Given the description of an element on the screen output the (x, y) to click on. 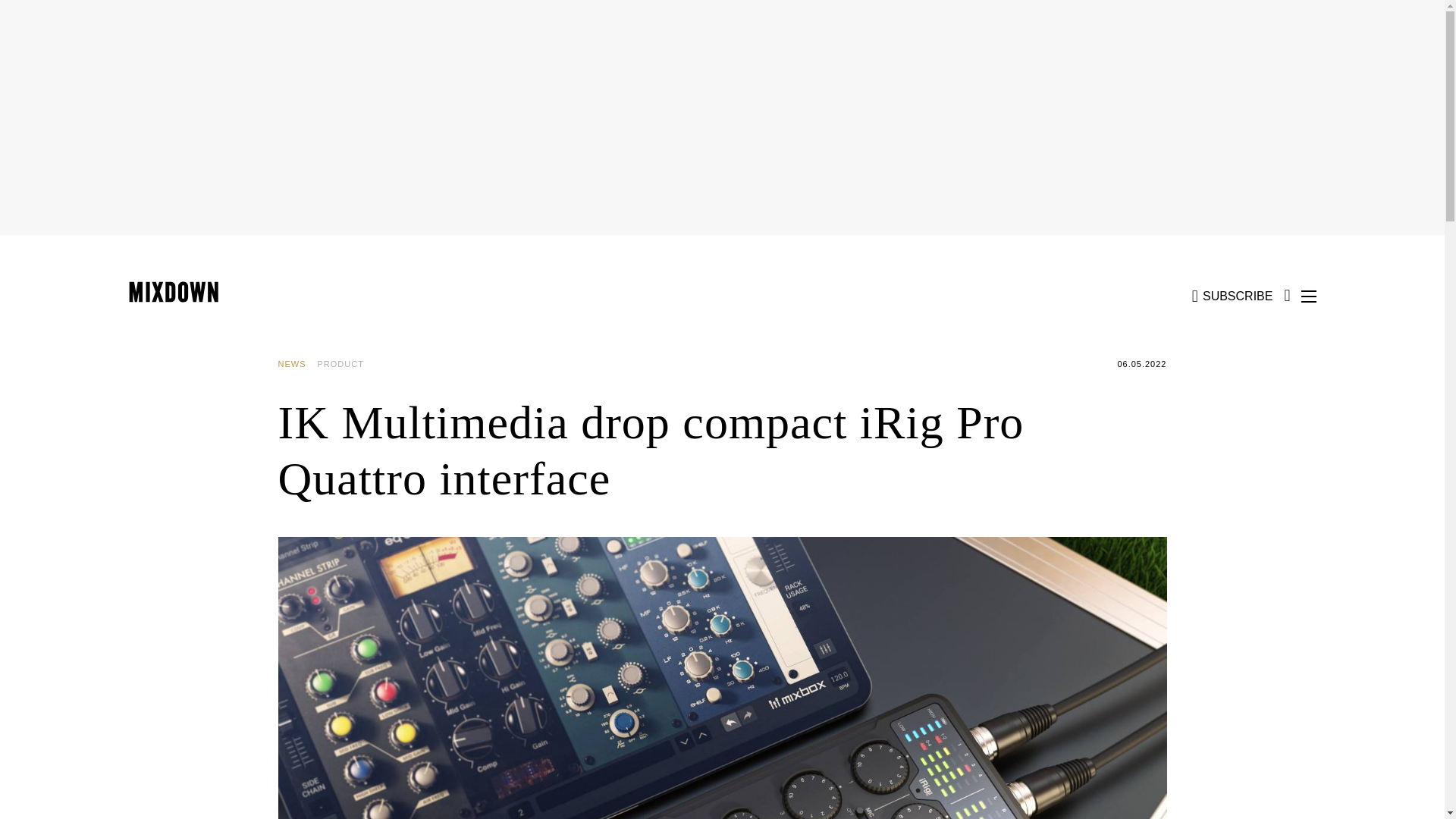
PRODUCT (345, 364)
NEWS (297, 364)
